Given the description of an element on the screen output the (x, y) to click on. 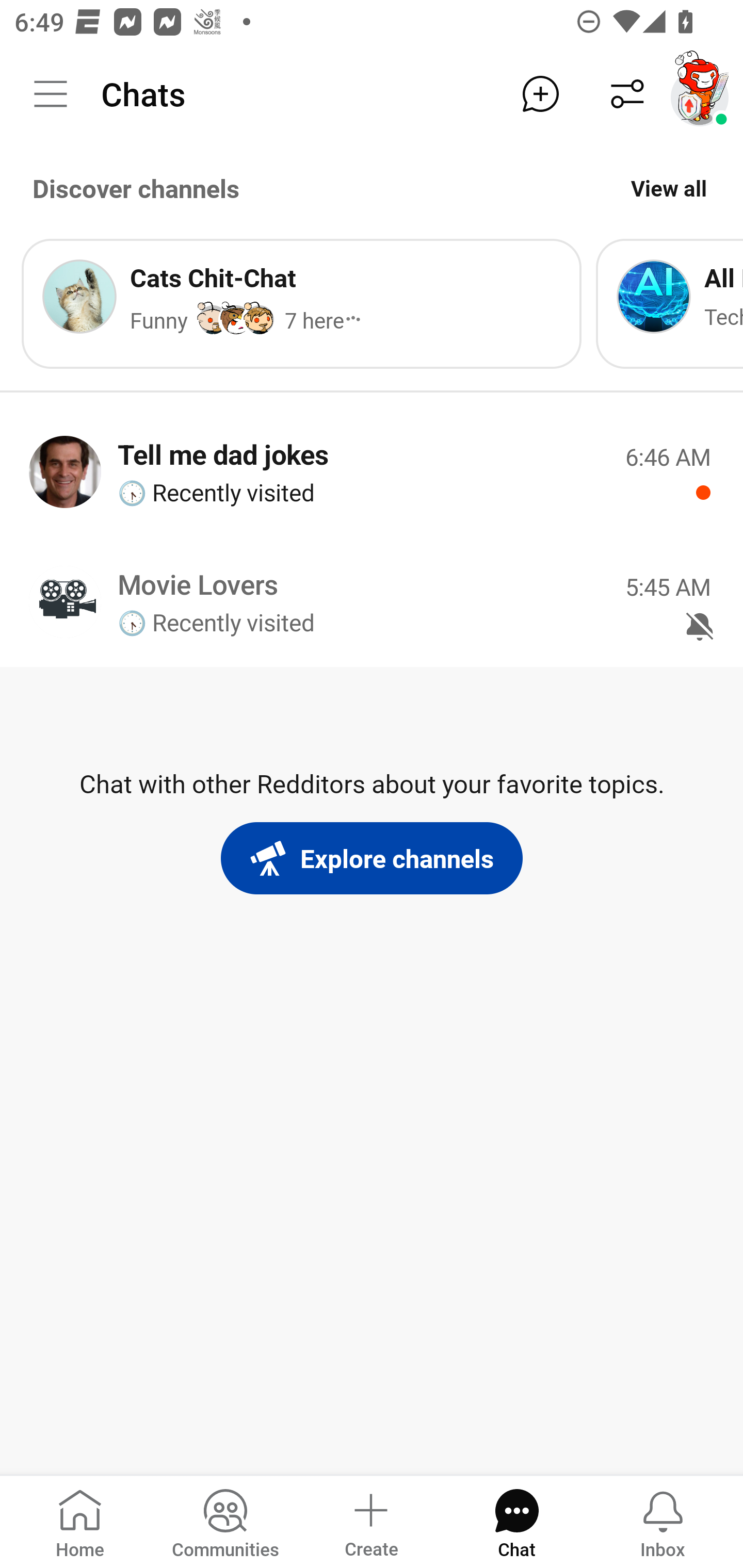
Community menu (50, 93)
New chat (540, 93)
Filter chats (626, 93)
TestAppium002 account (699, 93)
View all (668, 188)
Chat icon Cats Chit-Chat Funny 7 here (301, 303)
Tell me dad jokes 6:46 AM 🕟 Recently visited (371, 471)
Movie Lovers 5:45 AM 🕟 Recently visited Muted (371, 601)
Explore channels (371, 858)
Home (80, 1520)
Communities (225, 1520)
Create a post Create (370, 1520)
Chat (516, 1520)
Inbox (662, 1520)
